Given the description of an element on the screen output the (x, y) to click on. 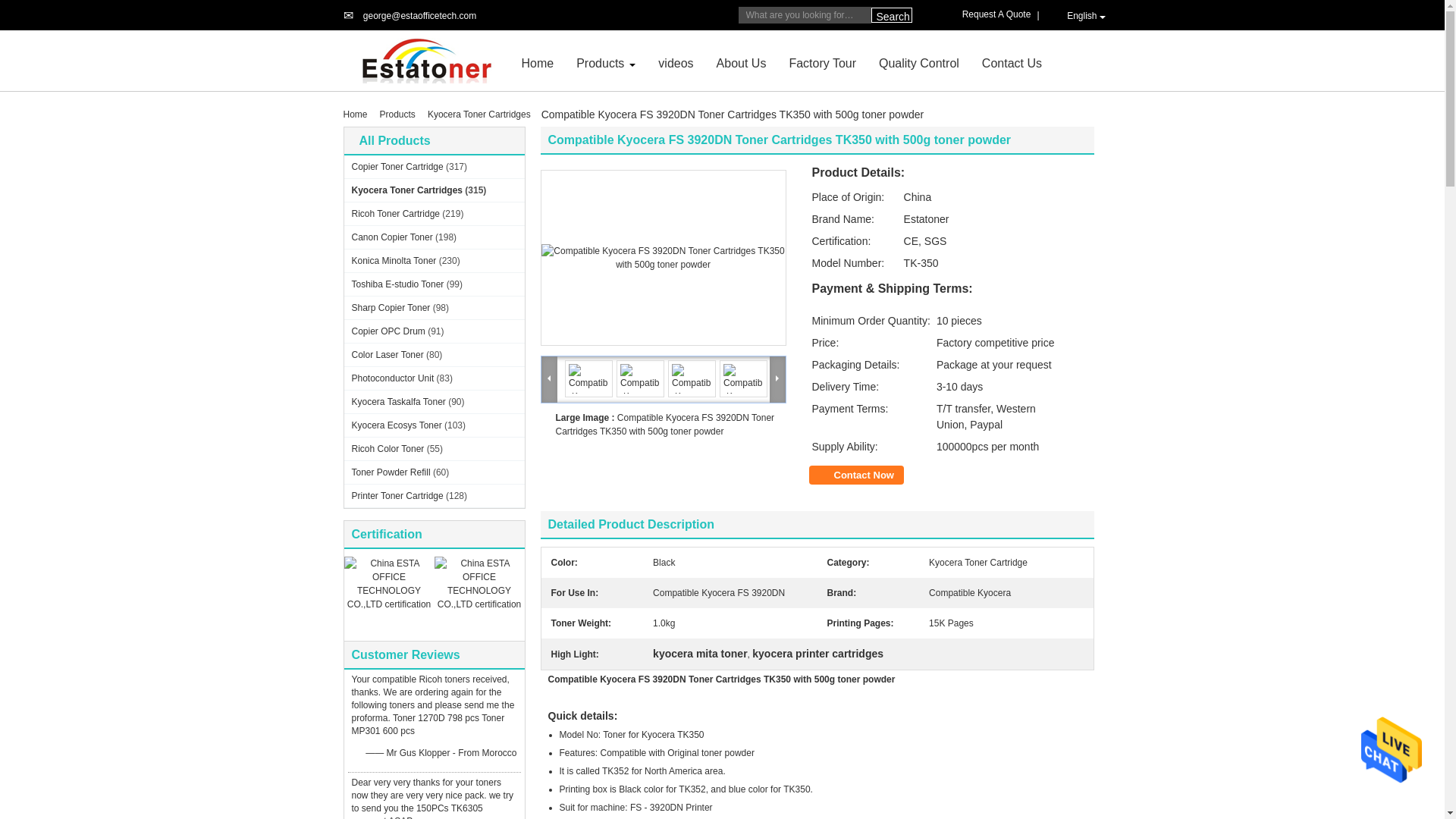
English (1078, 15)
ESTA OFFICE TECHNOLOGY CO.,LTD (600, 62)
Products (600, 62)
ESTA OFFICE TECHNOLOGY CO.,LTD (537, 62)
Search (890, 14)
Home (537, 62)
ESTA OFFICE TECHNOLOGY CO.,LTD (425, 59)
ESTA OFFICE TECHNOLOGY CO.,LTD (419, 15)
Quote (999, 14)
Request A Quote (999, 14)
